Given the description of an element on the screen output the (x, y) to click on. 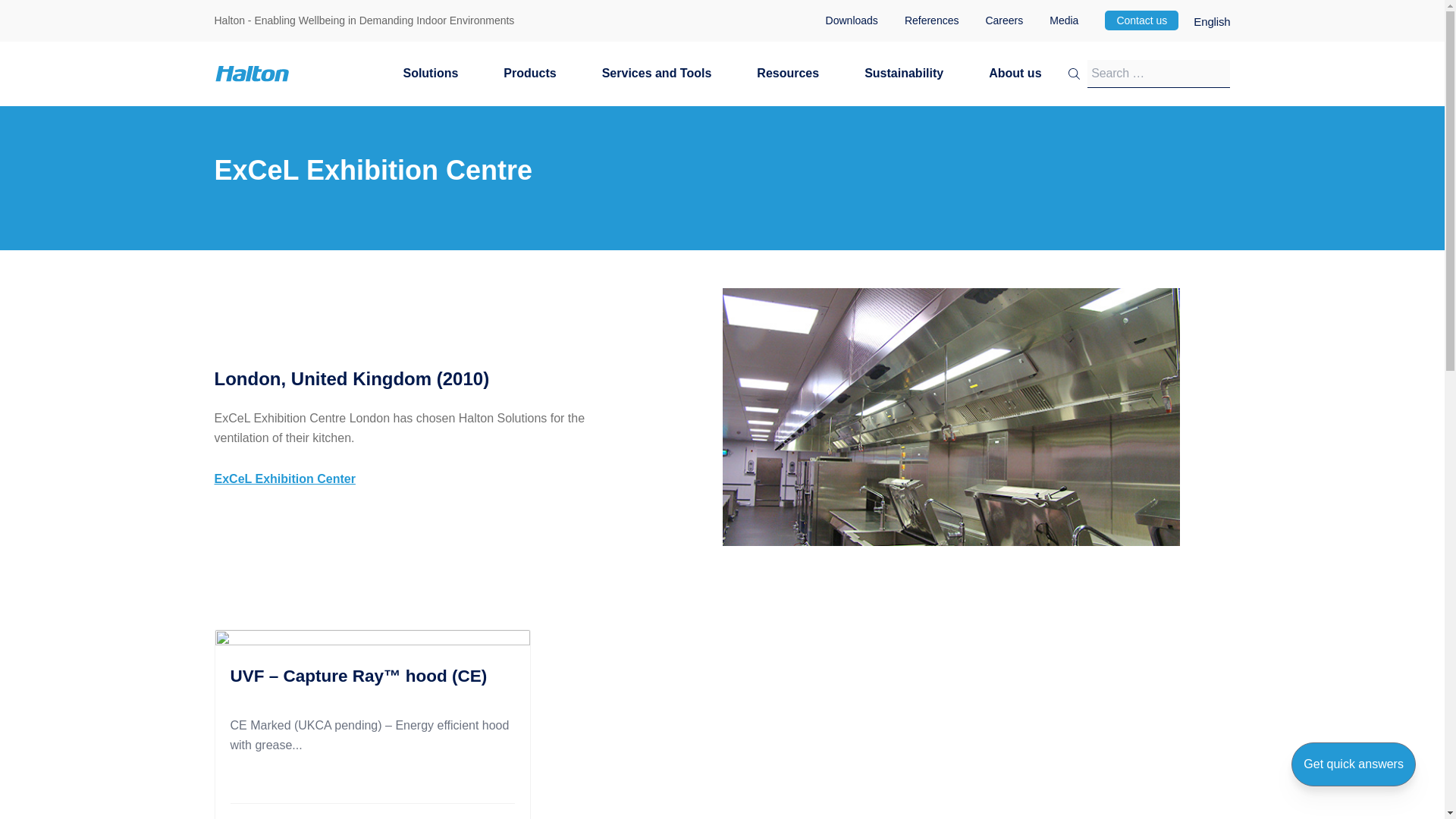
Products (529, 82)
Media (1063, 20)
Contact us (1141, 20)
Careers (1004, 20)
Downloads (851, 20)
Solutions (429, 82)
References (931, 20)
